Given the description of an element on the screen output the (x, y) to click on. 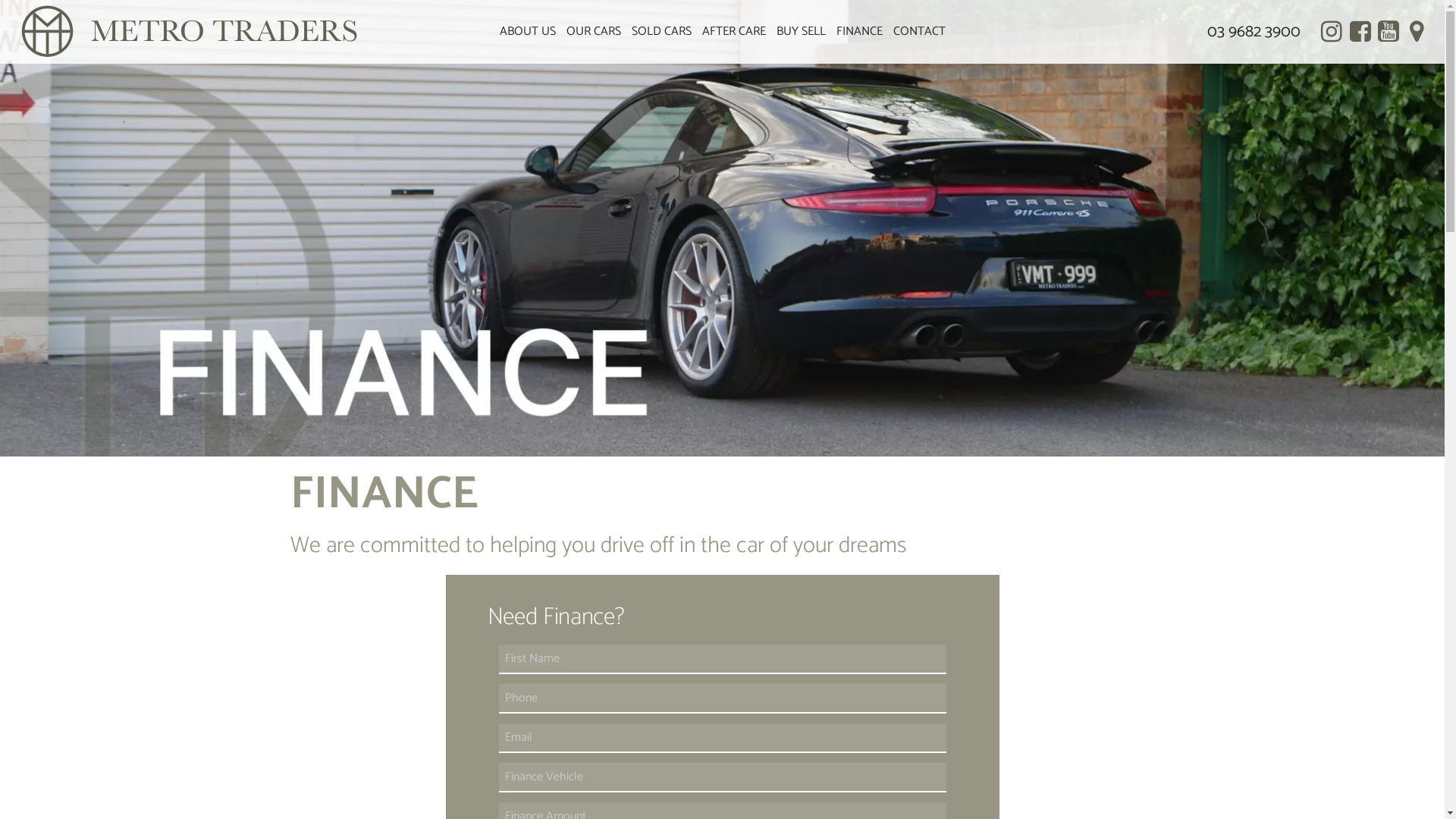
SOLD CARS Element type: text (661, 31)
03 9682 3900 Element type: text (1253, 31)
CONTACT Element type: text (918, 31)
OUR CARS Element type: text (593, 31)
BUY SELL Element type: text (800, 31)
ABOUT US Element type: text (527, 31)
AFTER CARE Element type: text (733, 31)
FINANCE Element type: text (859, 31)
